Given the description of an element on the screen output the (x, y) to click on. 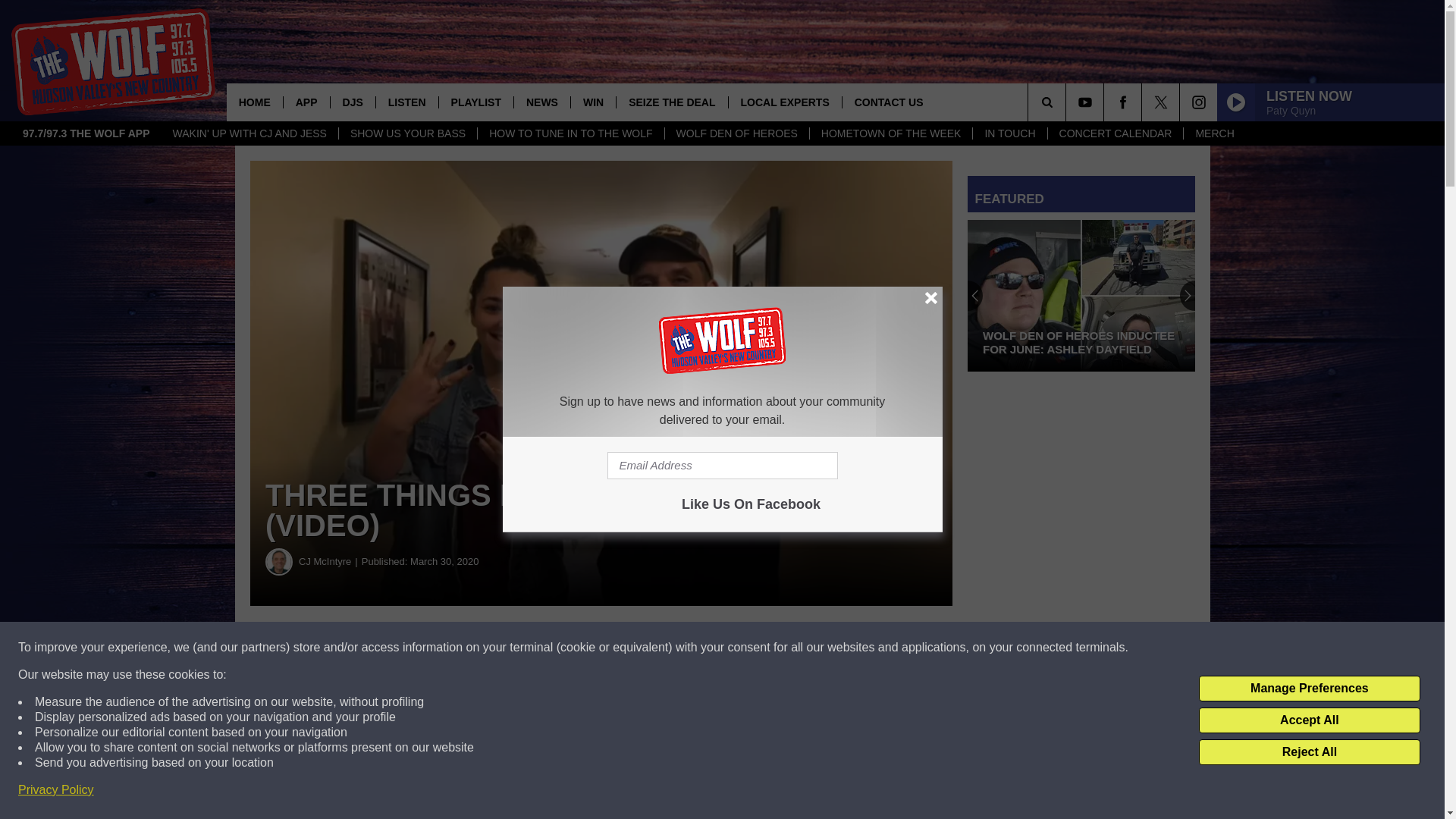
LISTEN (406, 102)
DJS (352, 102)
IN TOUCH (1009, 133)
PLAYLIST (475, 102)
SHOW US YOUR BASS (407, 133)
Privacy Policy (55, 789)
Accept All (1309, 720)
SEARCH (1068, 102)
Reject All (1309, 751)
Share on Twitter (741, 647)
APP (306, 102)
SEIZE THE DEAL (670, 102)
HOME (254, 102)
MERCH (1213, 133)
HOMETOWN OF THE WEEK (890, 133)
